Given the description of an element on the screen output the (x, y) to click on. 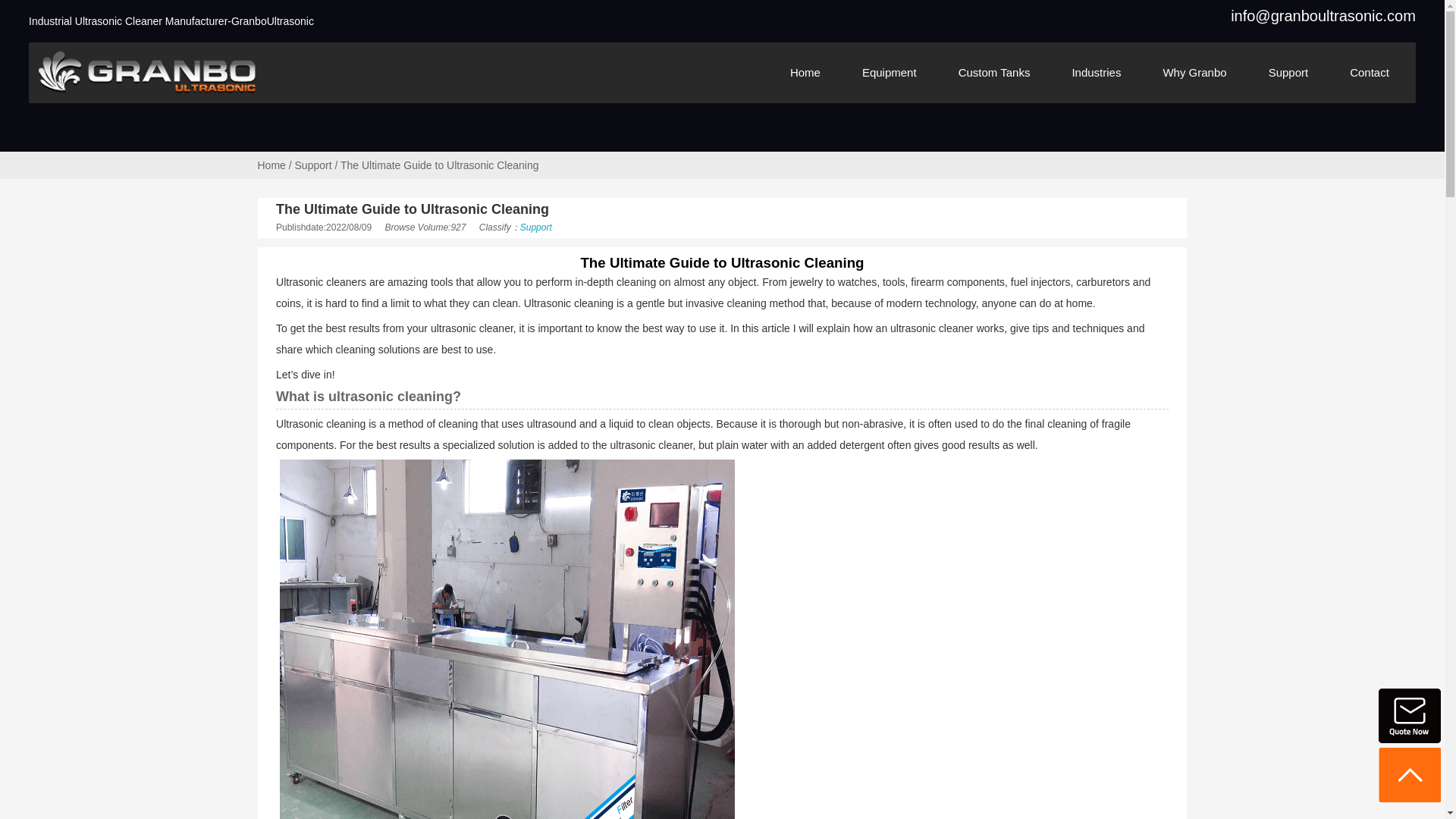
Support (313, 164)
Home (271, 164)
Custom Tanks (994, 72)
Support (535, 226)
Why Granbo (1193, 72)
Equipment (889, 72)
